Given the description of an element on the screen output the (x, y) to click on. 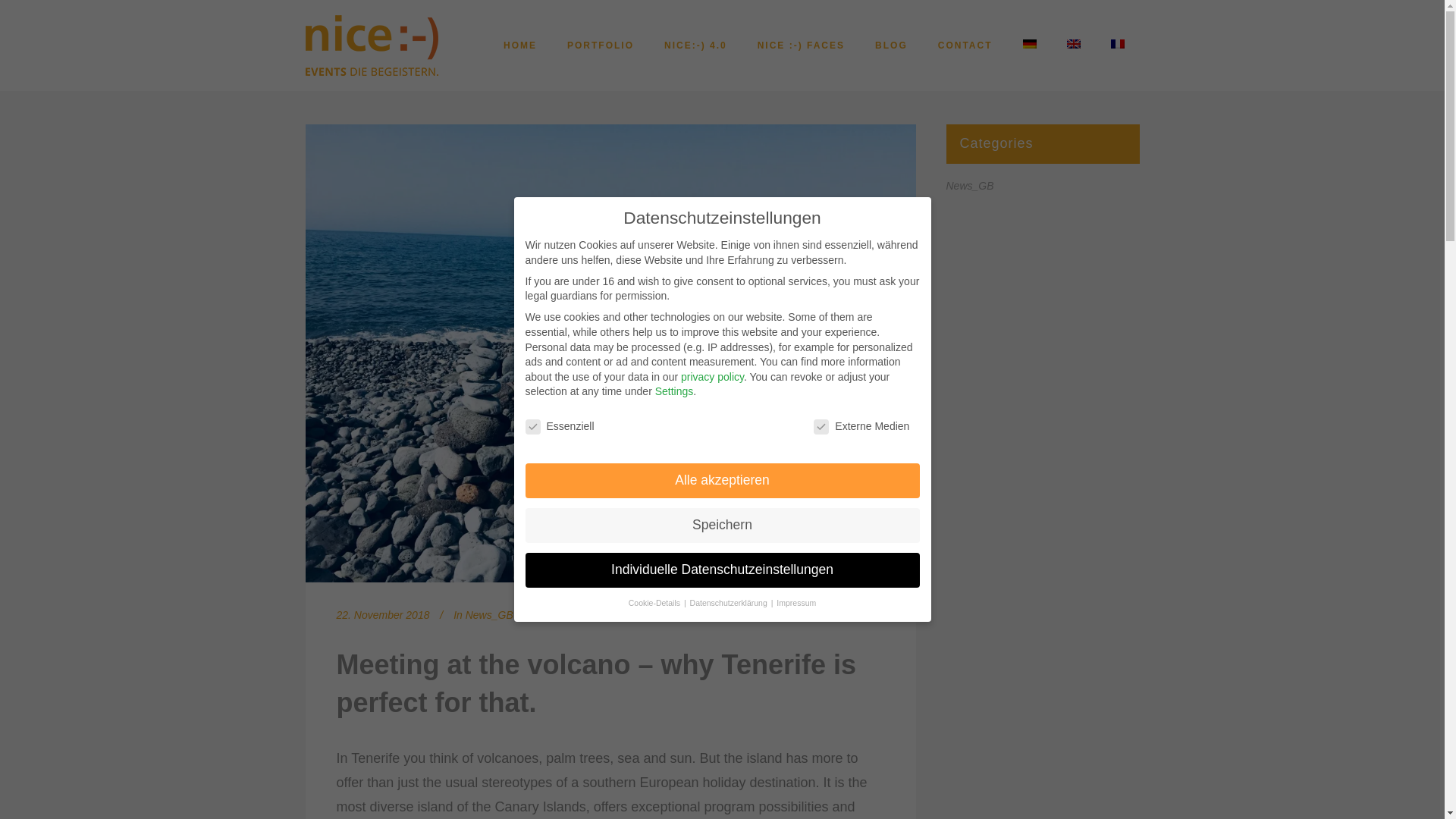
PORTFOLIO (600, 45)
CONTACT (965, 45)
HOME (519, 45)
BLOG (891, 45)
